Given the description of an element on the screen output the (x, y) to click on. 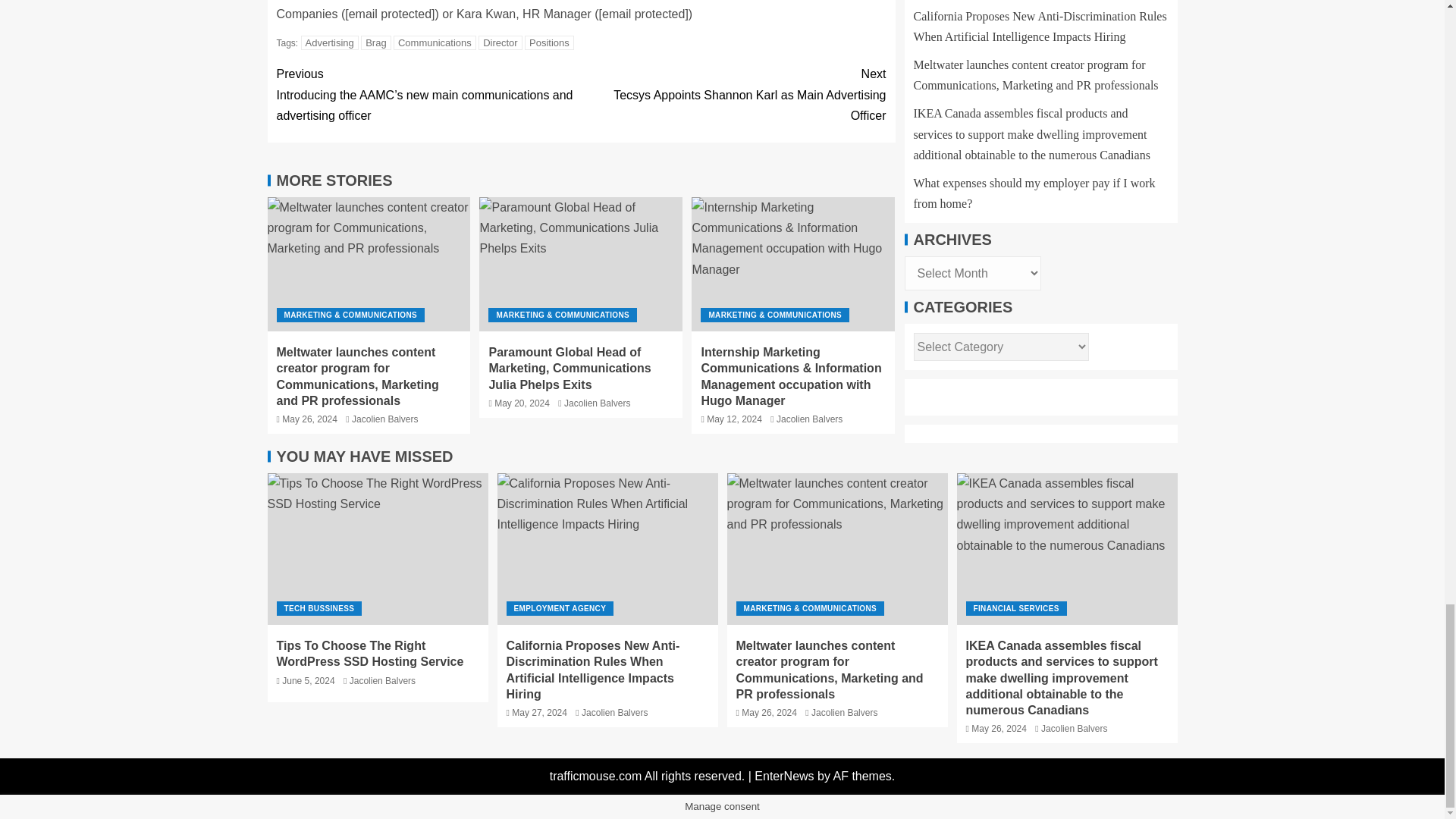
Communications (434, 42)
Jacolien Balvers (597, 403)
Jacolien Balvers (384, 419)
Advertising (329, 42)
Positions (548, 42)
Director (500, 42)
Brag (375, 42)
